Given the description of an element on the screen output the (x, y) to click on. 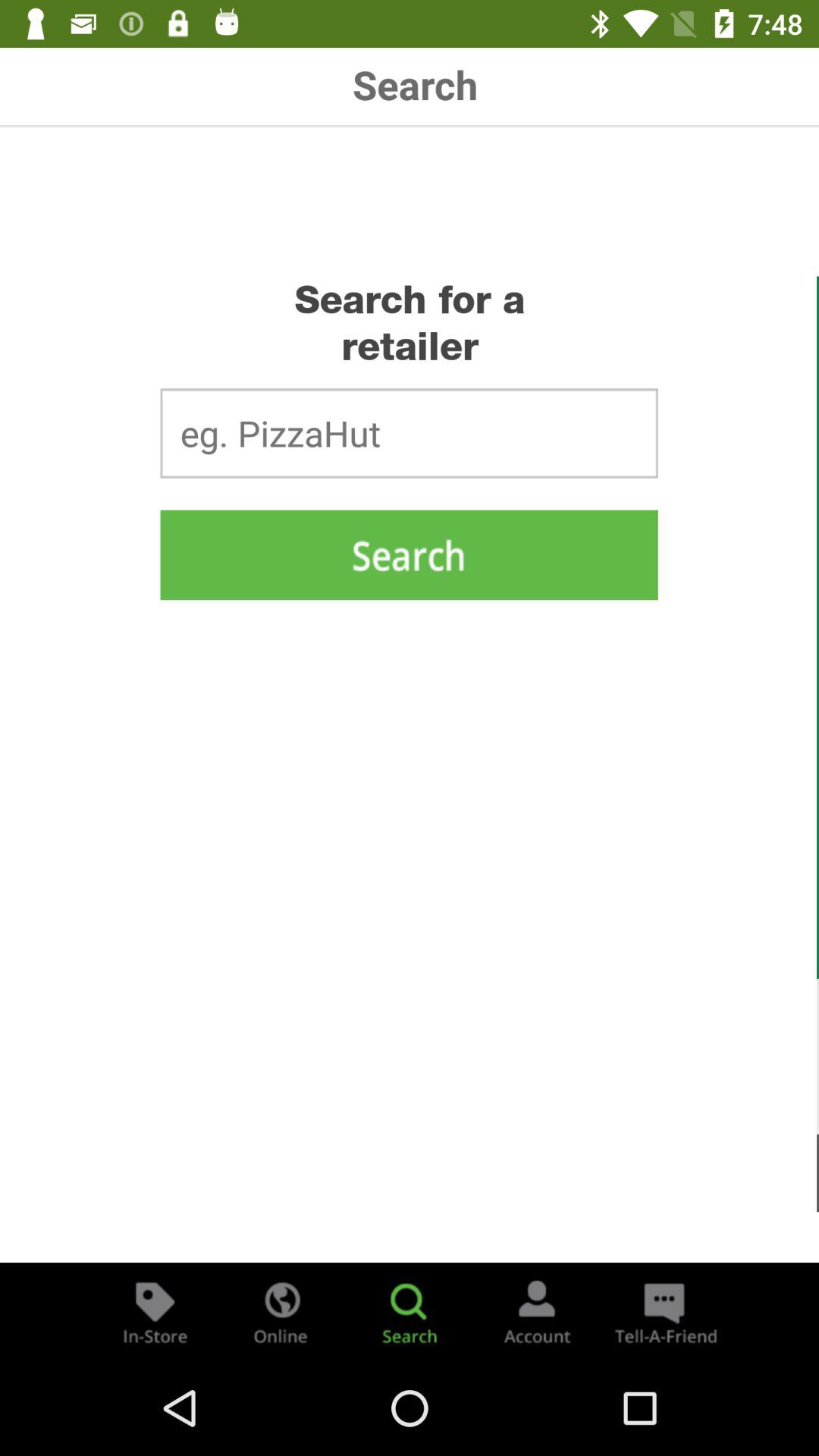
search (409, 1311)
